Given the description of an element on the screen output the (x, y) to click on. 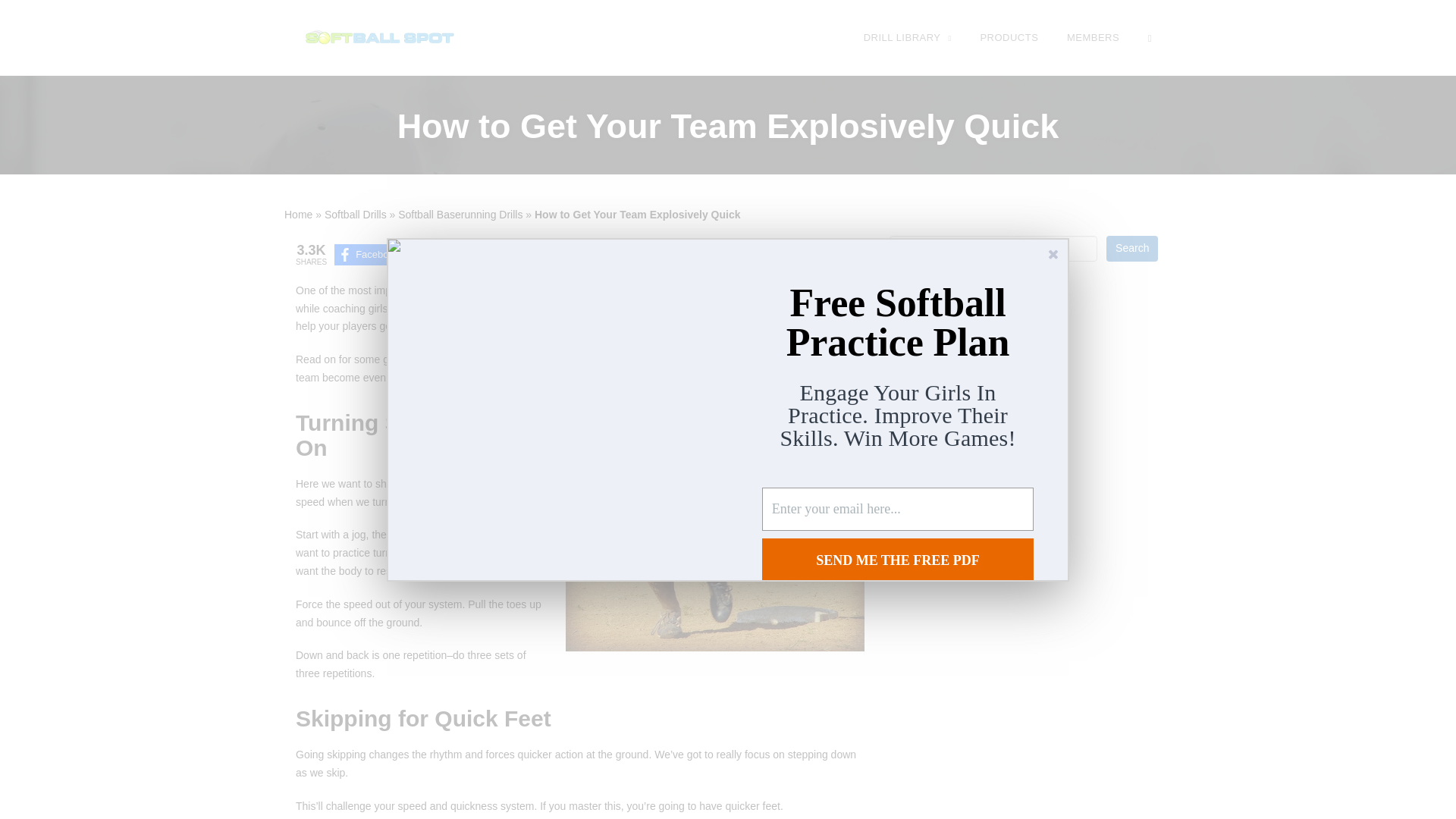
PRODUCTS (1008, 37)
Softball Spot (379, 36)
Pinterest (473, 254)
DRILL LIBRARY (907, 37)
Softball Drills (355, 214)
Share on Pinterest (473, 254)
Share (568, 254)
Share on Facebook (372, 254)
MEMBERS (1092, 37)
OPEN SEARCH FORM (1150, 37)
Home (298, 214)
Search (1131, 248)
Facebook (372, 254)
Share on Share (568, 254)
Softball Baserunning Drills (459, 214)
